Given the description of an element on the screen output the (x, y) to click on. 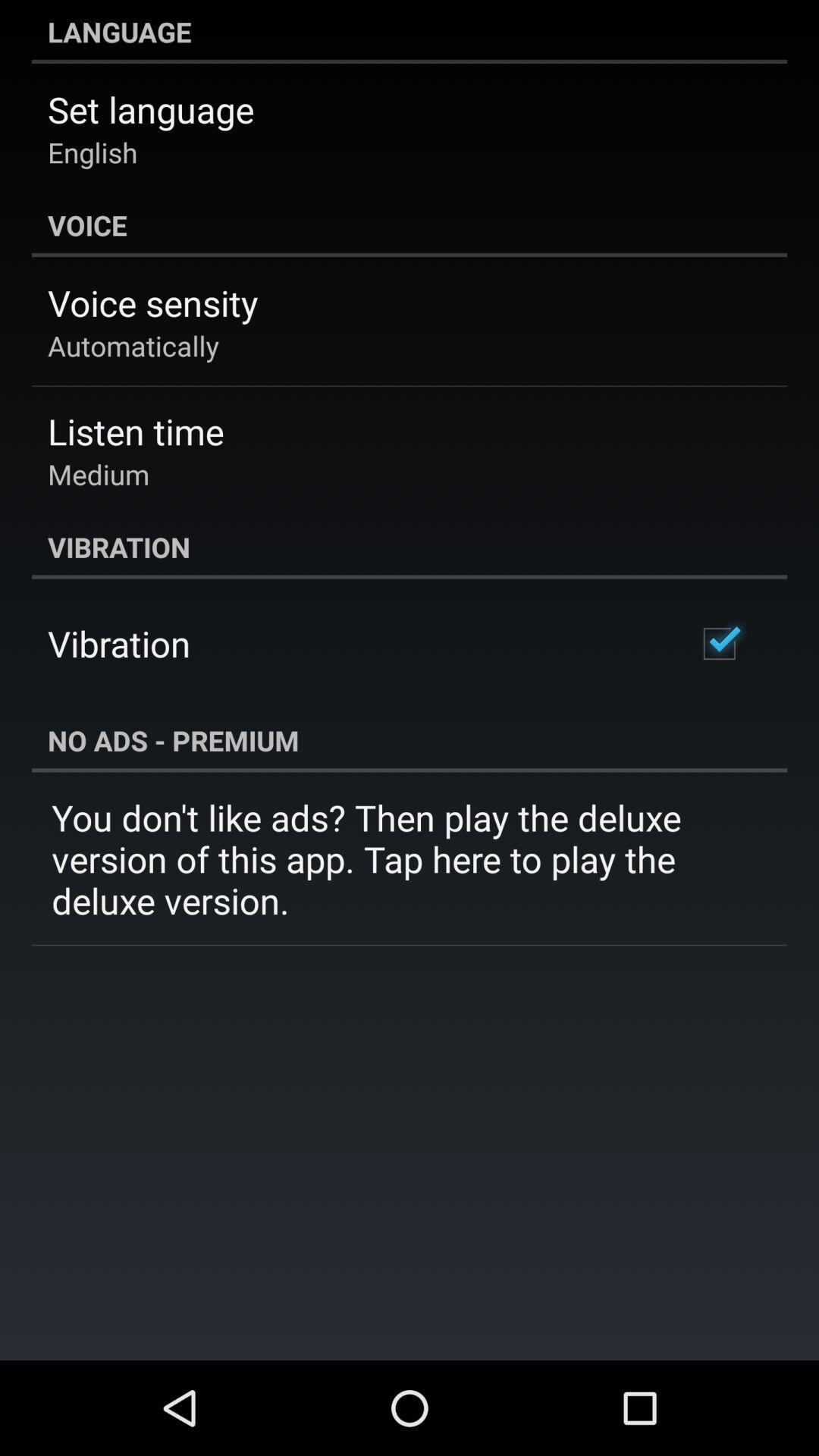
choose icon above the no ads - premium icon (719, 643)
